Given the description of an element on the screen output the (x, y) to click on. 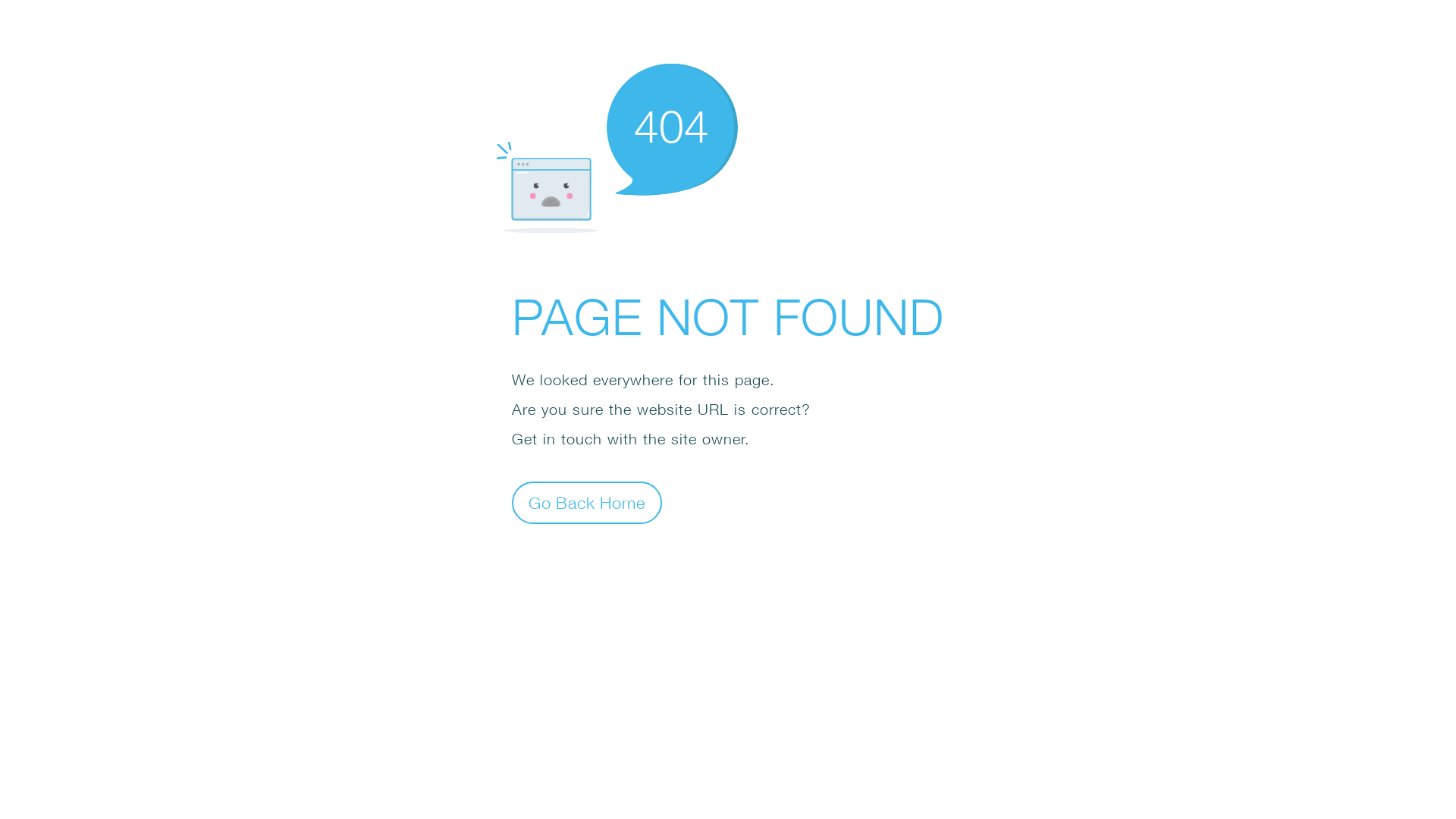
Go Back Home Element type: text (586, 502)
